Given the description of an element on the screen output the (x, y) to click on. 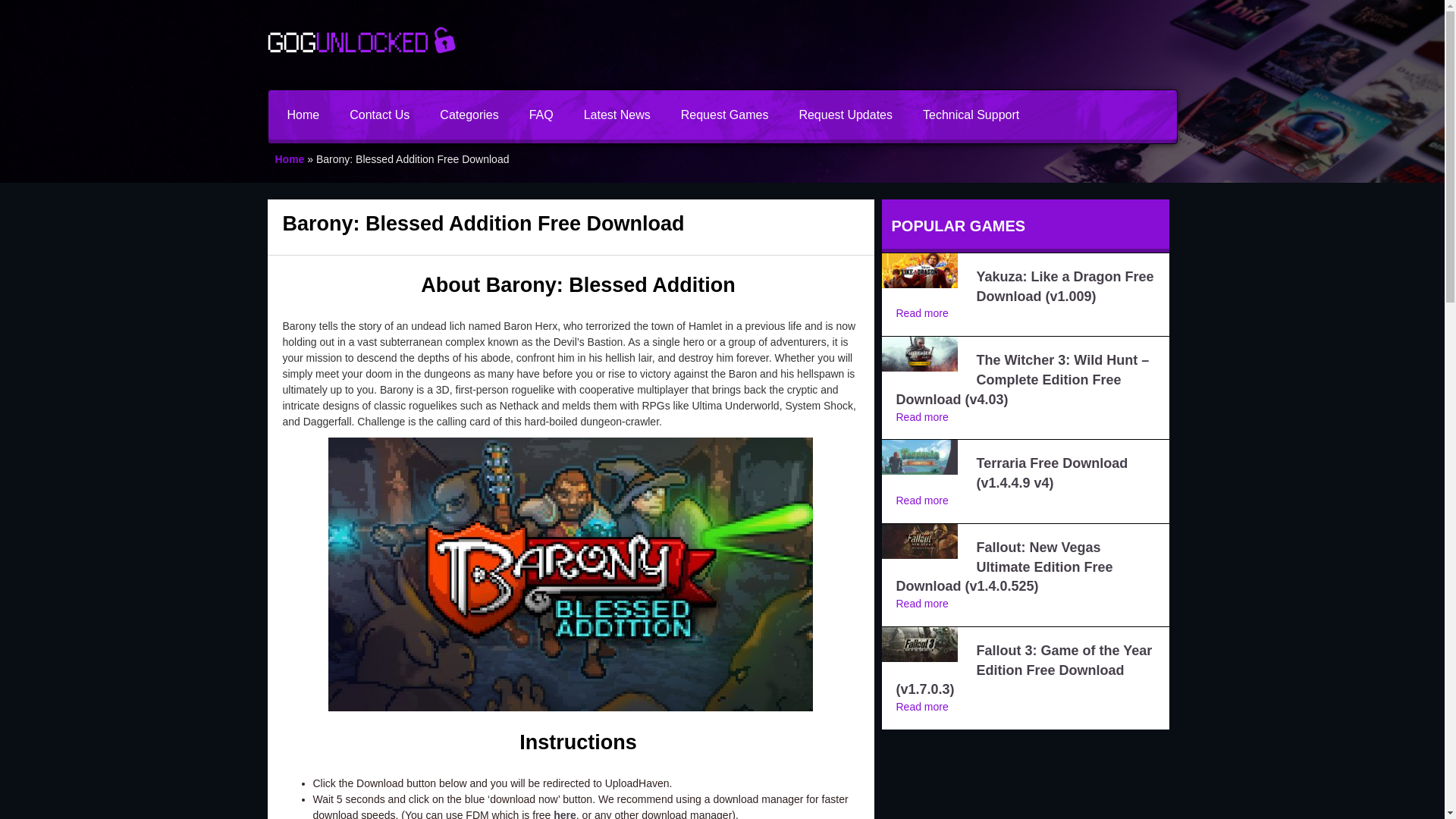
Latest News (617, 114)
here (564, 814)
Technical Support (970, 114)
Read more (922, 706)
Contact Us (379, 114)
Home (289, 159)
Read more (922, 603)
Read more (922, 500)
Read more (922, 313)
Categories (469, 114)
